Given the description of an element on the screen output the (x, y) to click on. 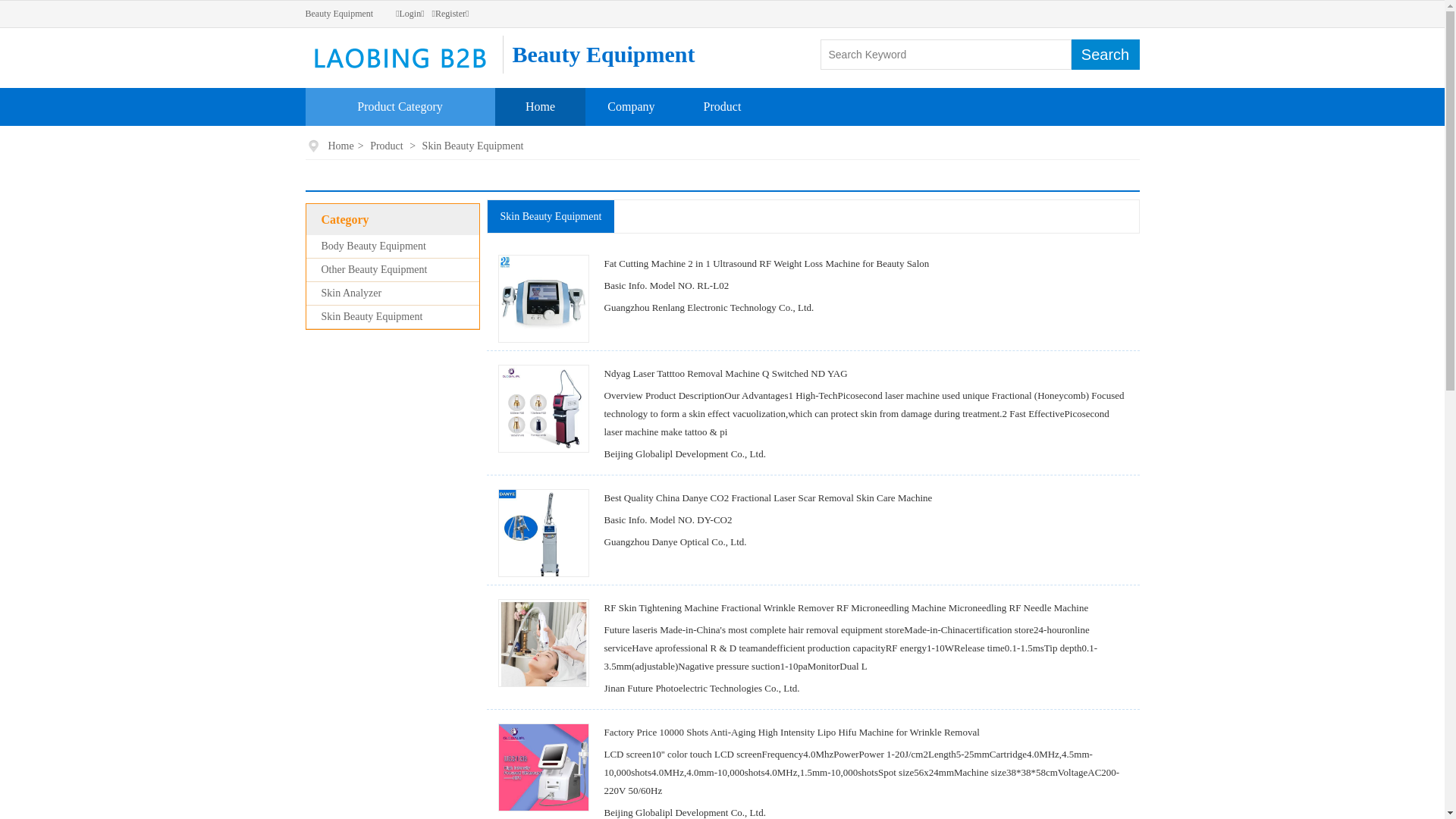
Guangzhou Renlang Electronic Technology Co., Ltd. Element type: text (708, 307)
Company Element type: text (630, 106)
Home Element type: text (340, 145)
Product Element type: text (387, 145)
Beijing Globalipl Development Co., Ltd. Element type: text (684, 453)
Skin Beauty Equipment Element type: text (472, 145)
Home Element type: text (540, 106)
Body Beauty Equipment Element type: text (373, 245)
Beauty Equipment Element type: text (338, 13)
Ndyag Laser Tatttoo Removal Machine Q Switched ND YAG Element type: text (725, 373)
Product Category Element type: text (399, 106)
Search Element type: text (1104, 54)
Beijing Globalipl Development Co., Ltd. Element type: text (684, 812)
Jinan Future Photoelectric Technologies Co., Ltd. Element type: text (701, 687)
Skin Analyzer Element type: text (351, 292)
Product Element type: text (722, 106)
Guangzhou Danye Optical Co., Ltd. Element type: text (674, 541)
Other Beauty Equipment Element type: text (374, 269)
Skin Beauty Equipment Element type: text (372, 316)
